Given the description of an element on the screen output the (x, y) to click on. 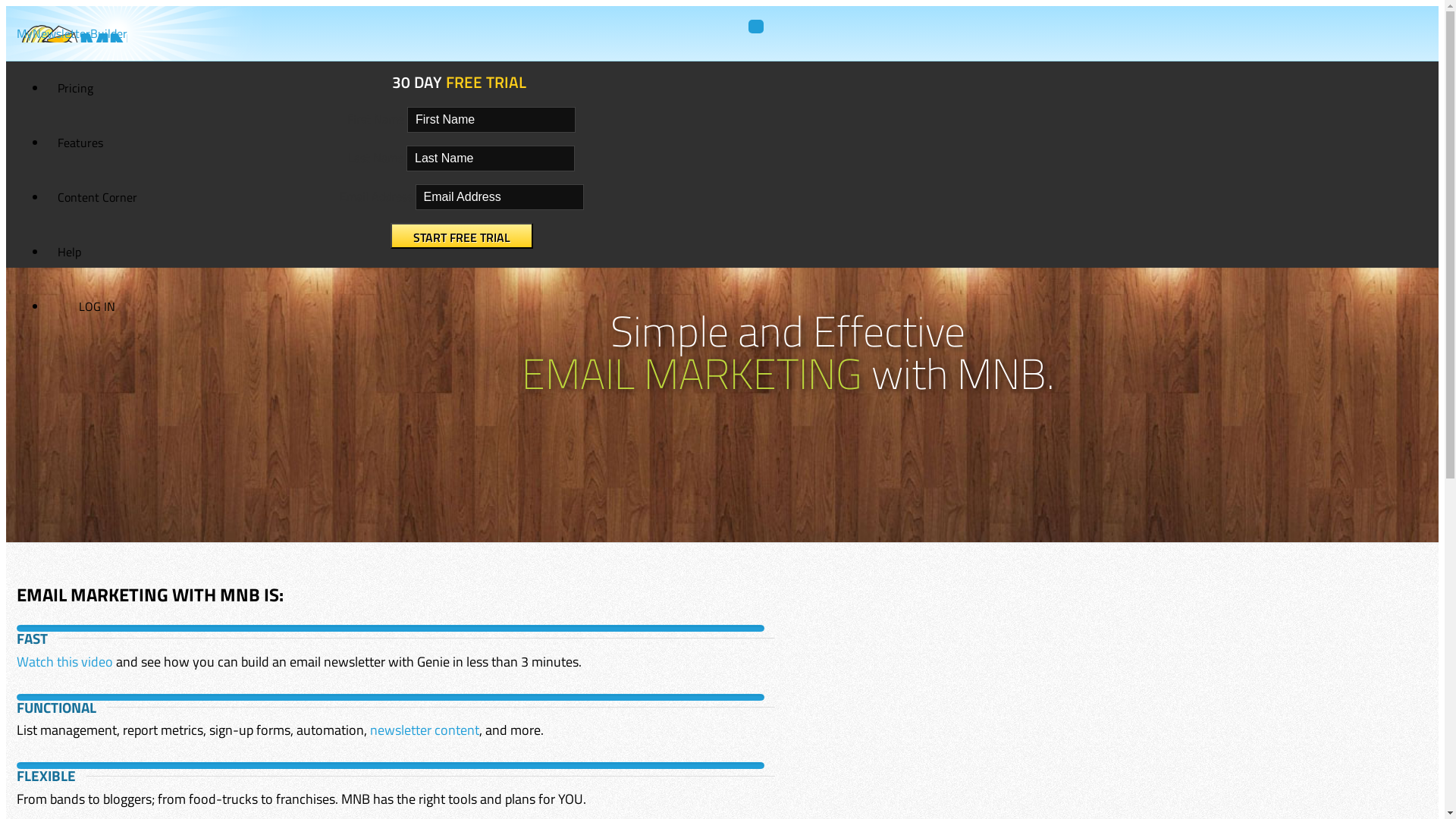
Content Corner Element type: text (97, 197)
LOG IN Element type: text (96, 306)
Watch this video Element type: text (64, 661)
START FREE TRIAL Element type: text (460, 235)
Features Element type: text (80, 142)
Help Element type: text (69, 251)
FUNCTIONAL Element type: text (56, 707)
newsletter content Element type: text (424, 729)
MyNewsletterBuilder Element type: text (71, 33)
Pricing Element type: text (75, 87)
